Given the description of an element on the screen output the (x, y) to click on. 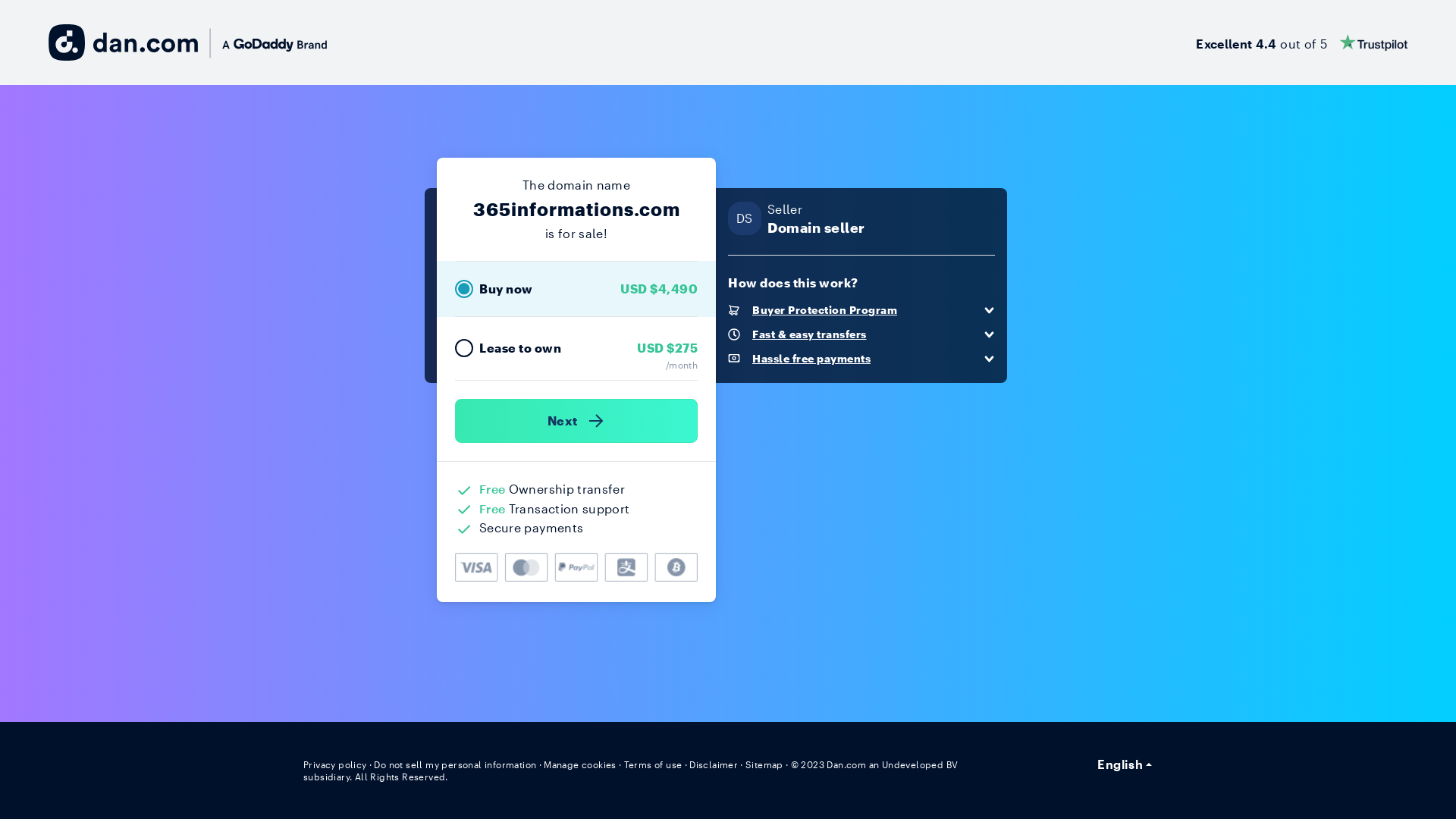
Privacy policy Element type: text (335, 764)
English Element type: text (1124, 764)
Manage cookies Element type: text (579, 764)
Sitemap Element type: text (764, 764)
Do not sell my personal information Element type: text (454, 764)
Terms of use Element type: text (653, 764)
Next
) Element type: text (576, 420)
Disclaimer Element type: text (713, 764)
Excellent 4.4 out of 5 Element type: text (1301, 42)
